Given the description of an element on the screen output the (x, y) to click on. 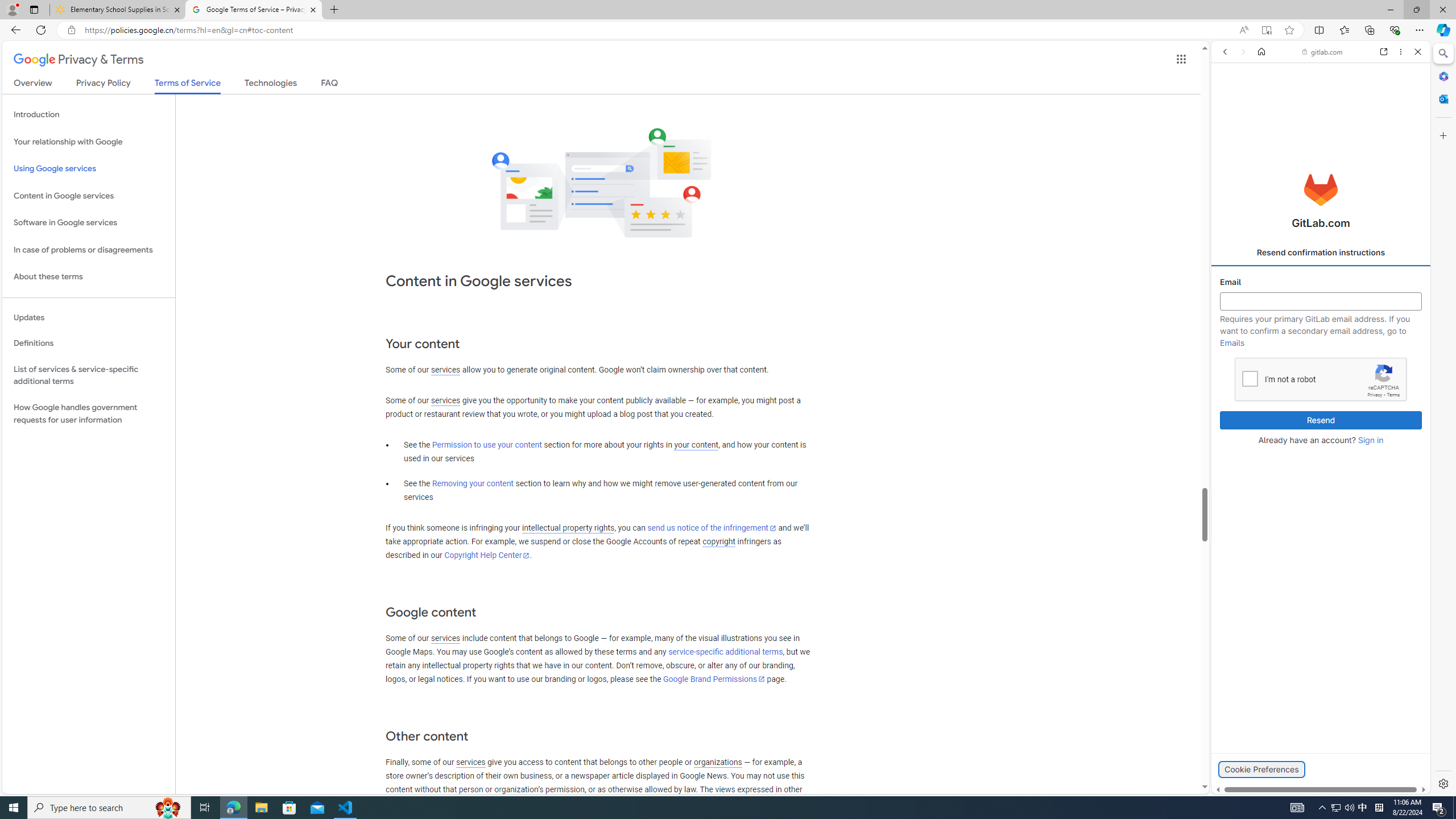
Email (1321, 301)
View details (1379, 554)
Search Filter, ALL (1228, 129)
Dashboard (1320, 365)
